Given the description of an element on the screen output the (x, y) to click on. 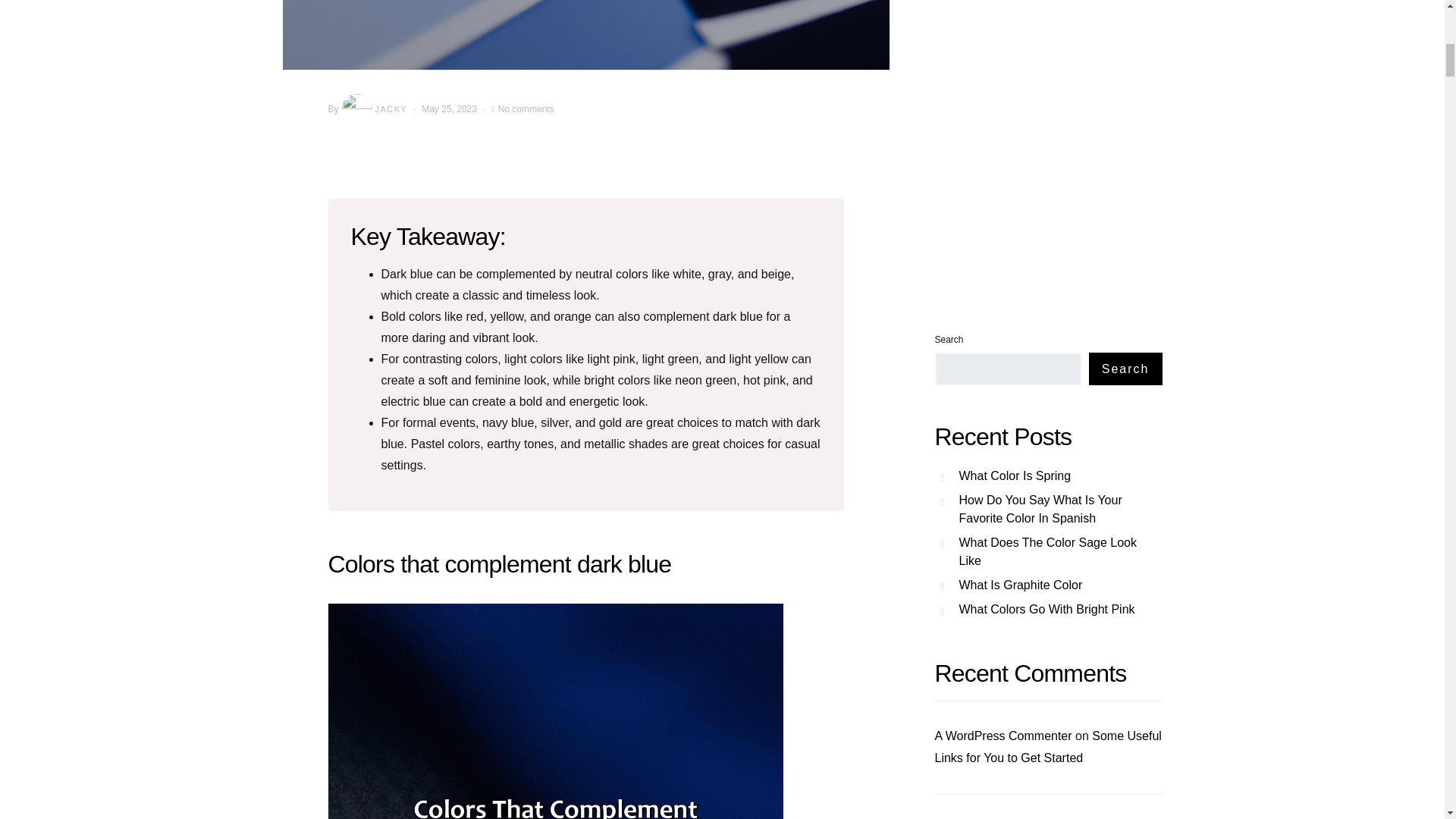
No comments (525, 109)
JACKY (373, 109)
View all posts by Jacky (373, 109)
